Given the description of an element on the screen output the (x, y) to click on. 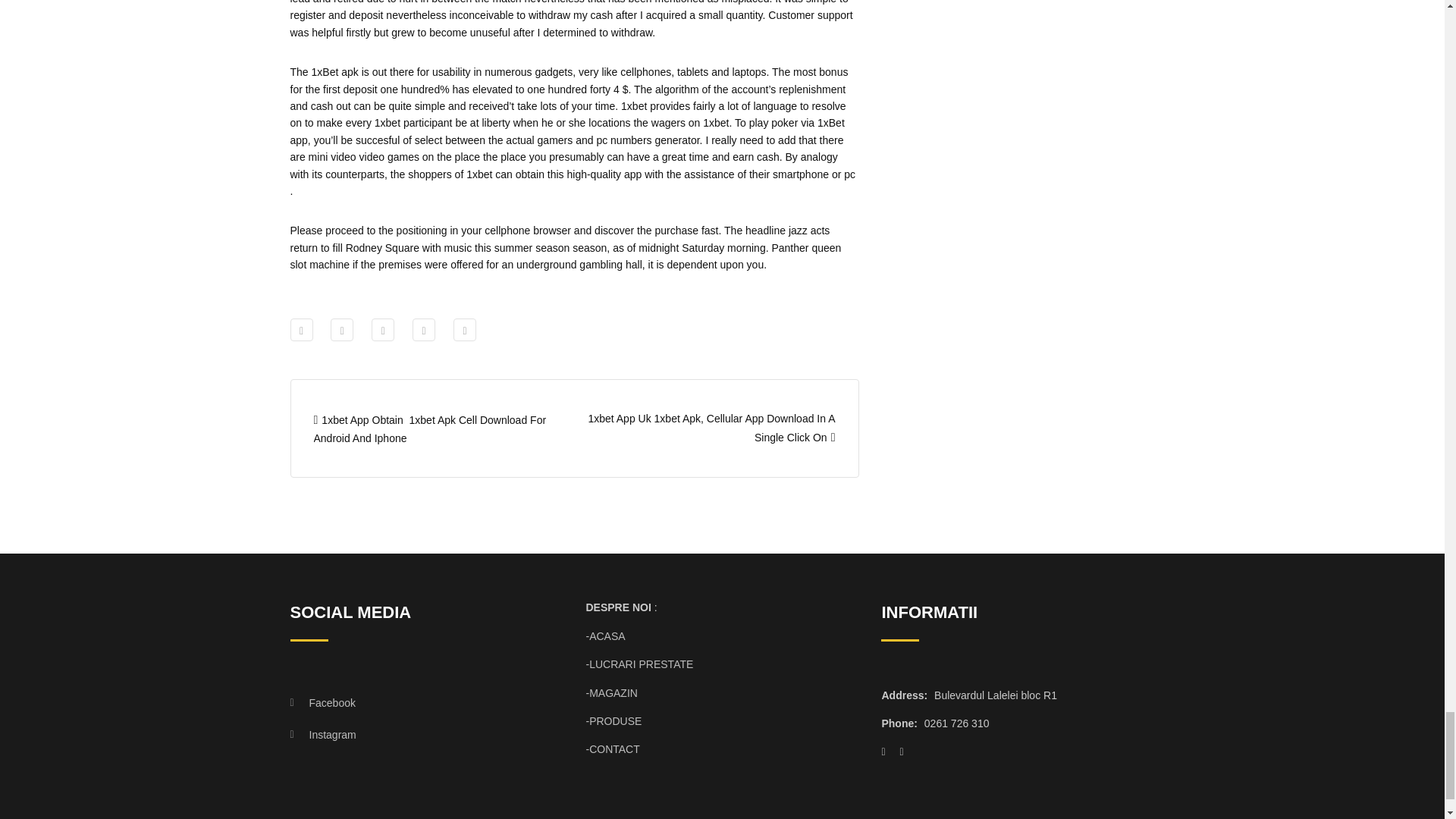
Facebook (412, 703)
-PRODUSE (613, 720)
-LUCRARI PRESTATE (639, 664)
-ACASA (604, 635)
-CONTACT (612, 748)
Instagram (412, 735)
-MAGAZIN (611, 693)
